Given the description of an element on the screen output the (x, y) to click on. 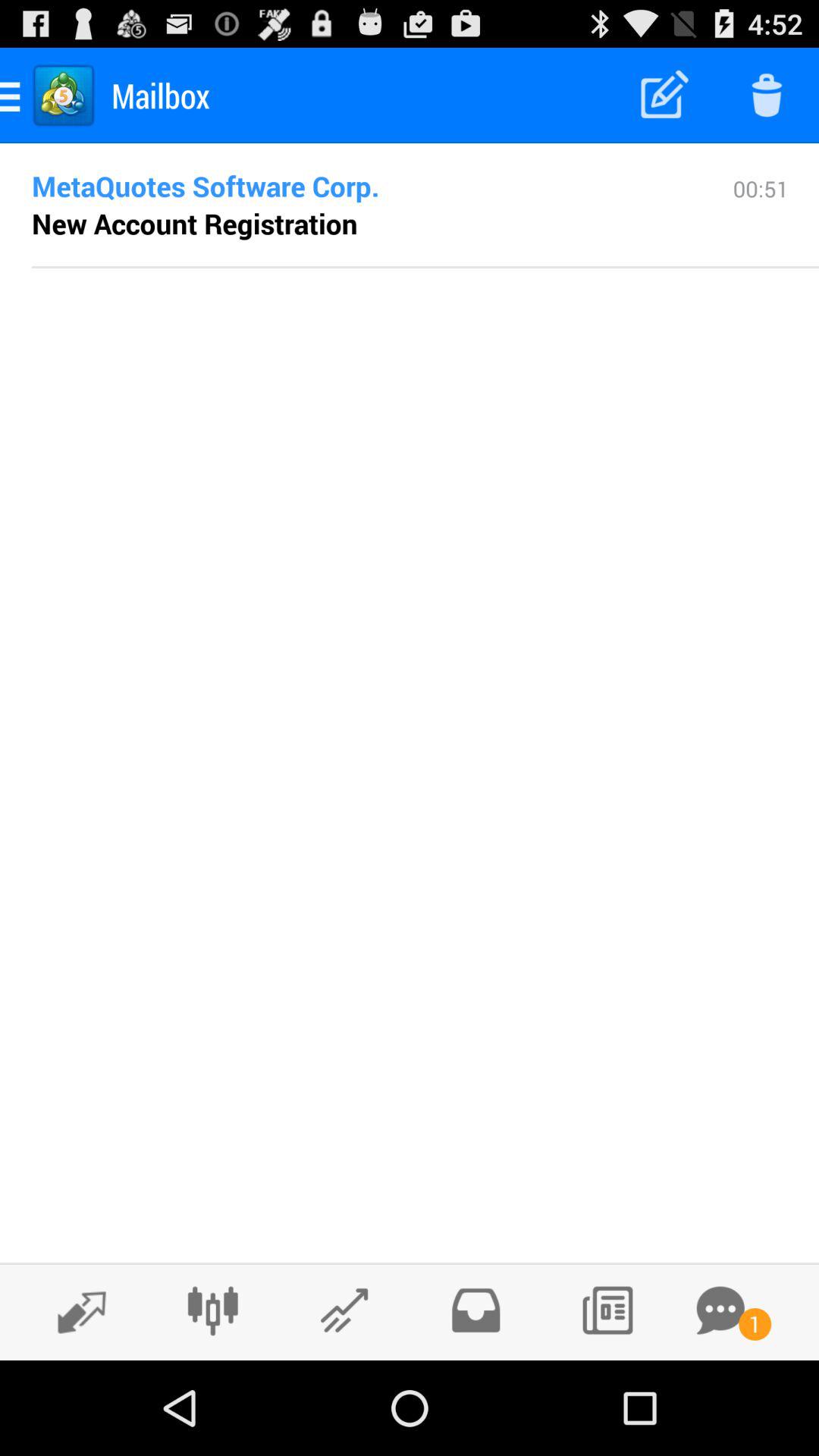
tap item below metaquotes software corp. icon (194, 223)
